Given the description of an element on the screen output the (x, y) to click on. 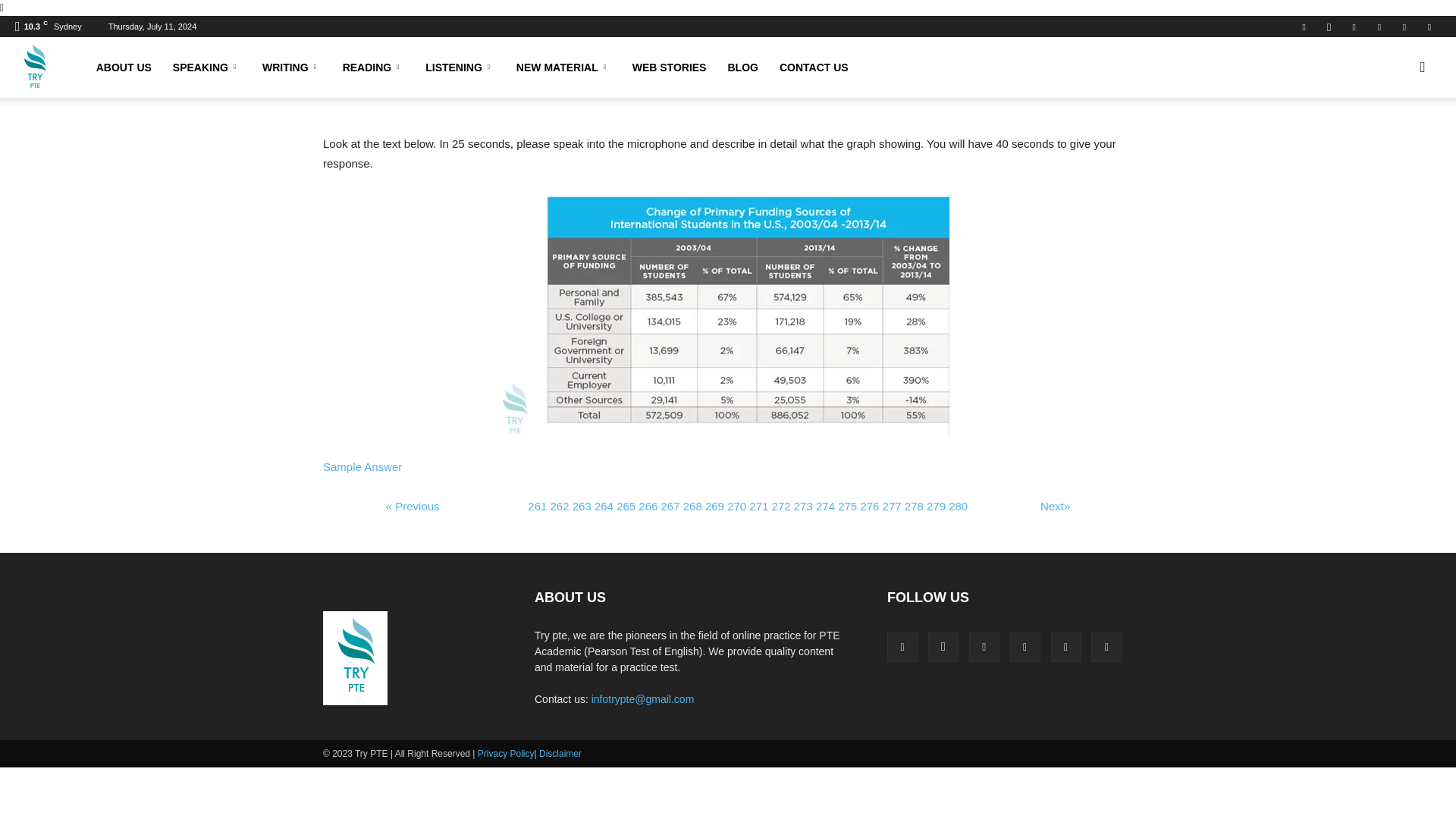
Facebook (901, 646)
Linkedin (1353, 25)
Linkedin (983, 646)
Facebook (1304, 25)
Instagram (1328, 25)
Telegram (1379, 25)
Twitter (1404, 25)
Instagram (943, 646)
Youtube (1429, 25)
